Given the description of an element on the screen output the (x, y) to click on. 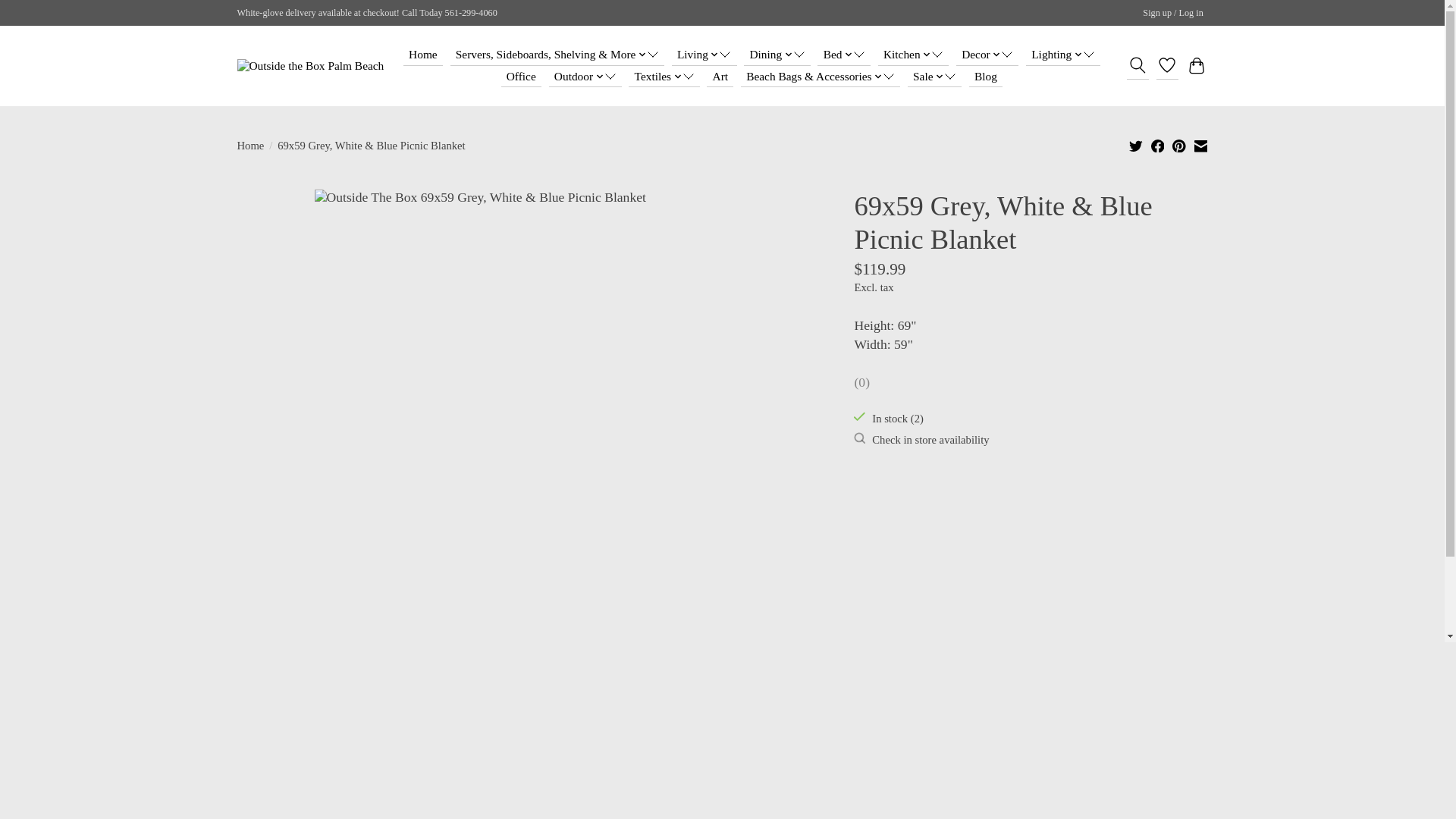
Dining (777, 54)
Kitchen (913, 54)
Living (703, 54)
Home (422, 54)
Bed (843, 54)
Outside the Box Palm Beach  (309, 65)
My account (1173, 13)
